Given the description of an element on the screen output the (x, y) to click on. 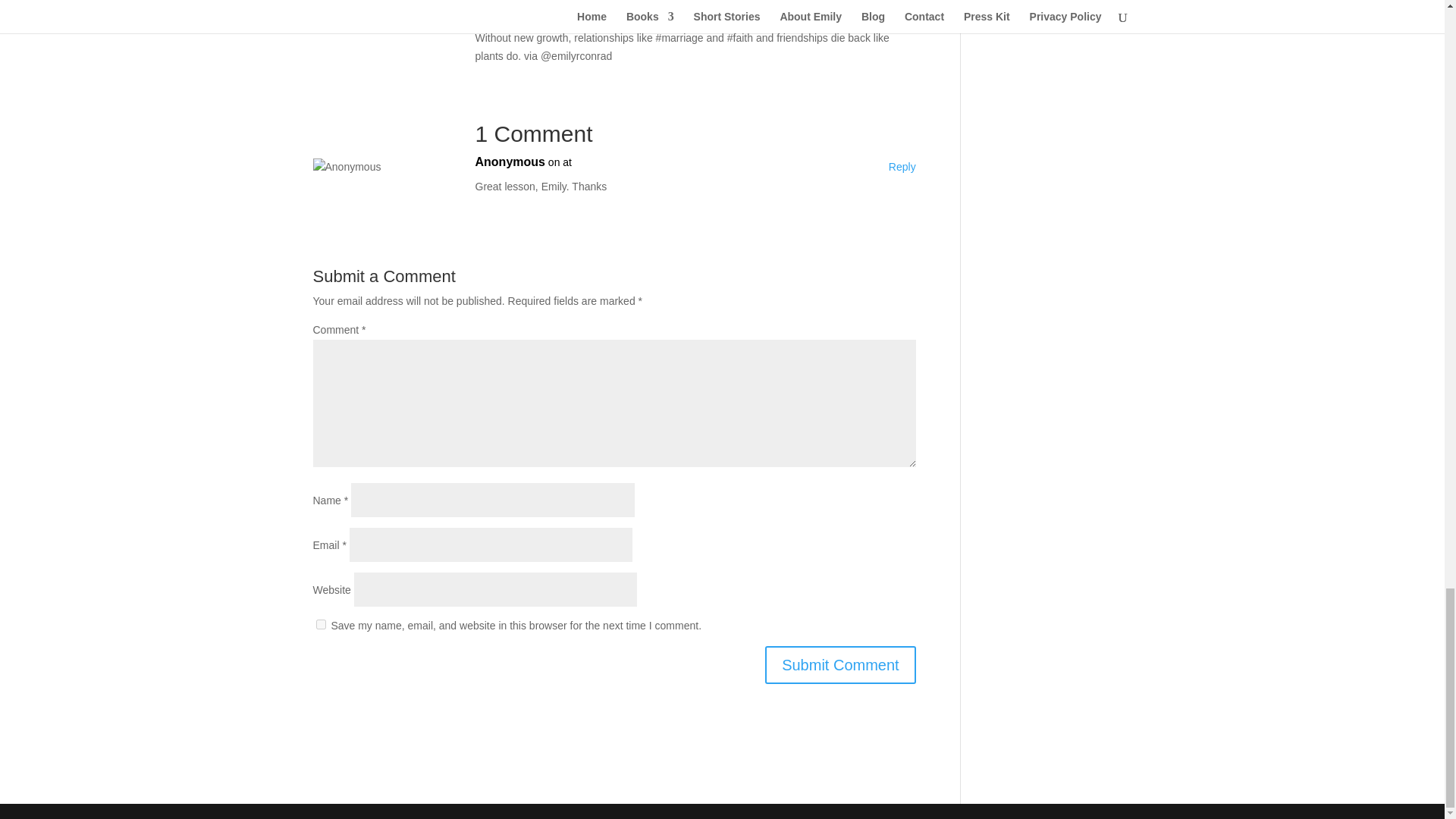
Submit Comment (840, 664)
yes (319, 624)
Reply (901, 167)
Submit Comment (840, 664)
